Given the description of an element on the screen output the (x, y) to click on. 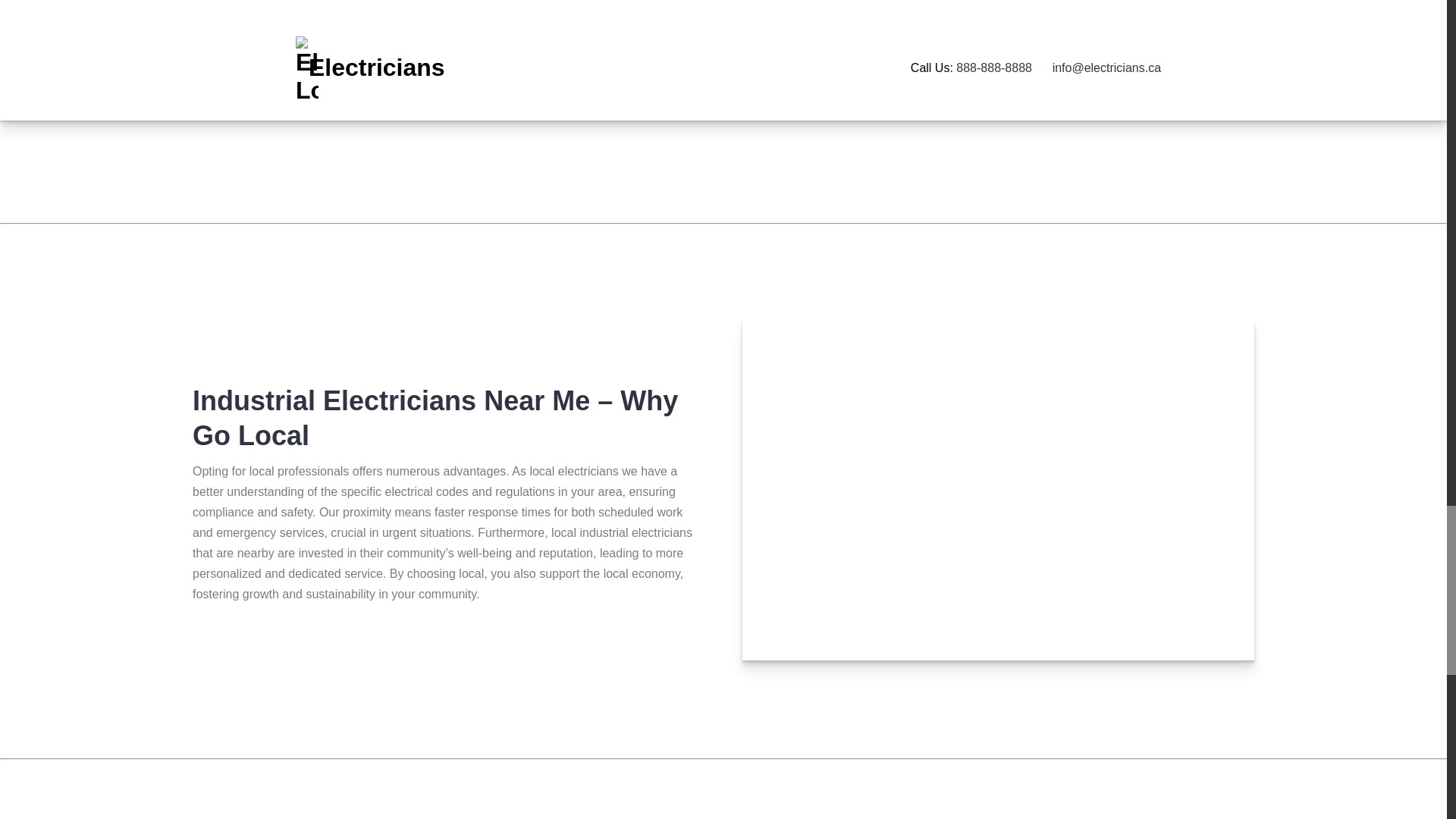
What is Industrial Electric? (572, 5)
